Given the description of an element on the screen output the (x, y) to click on. 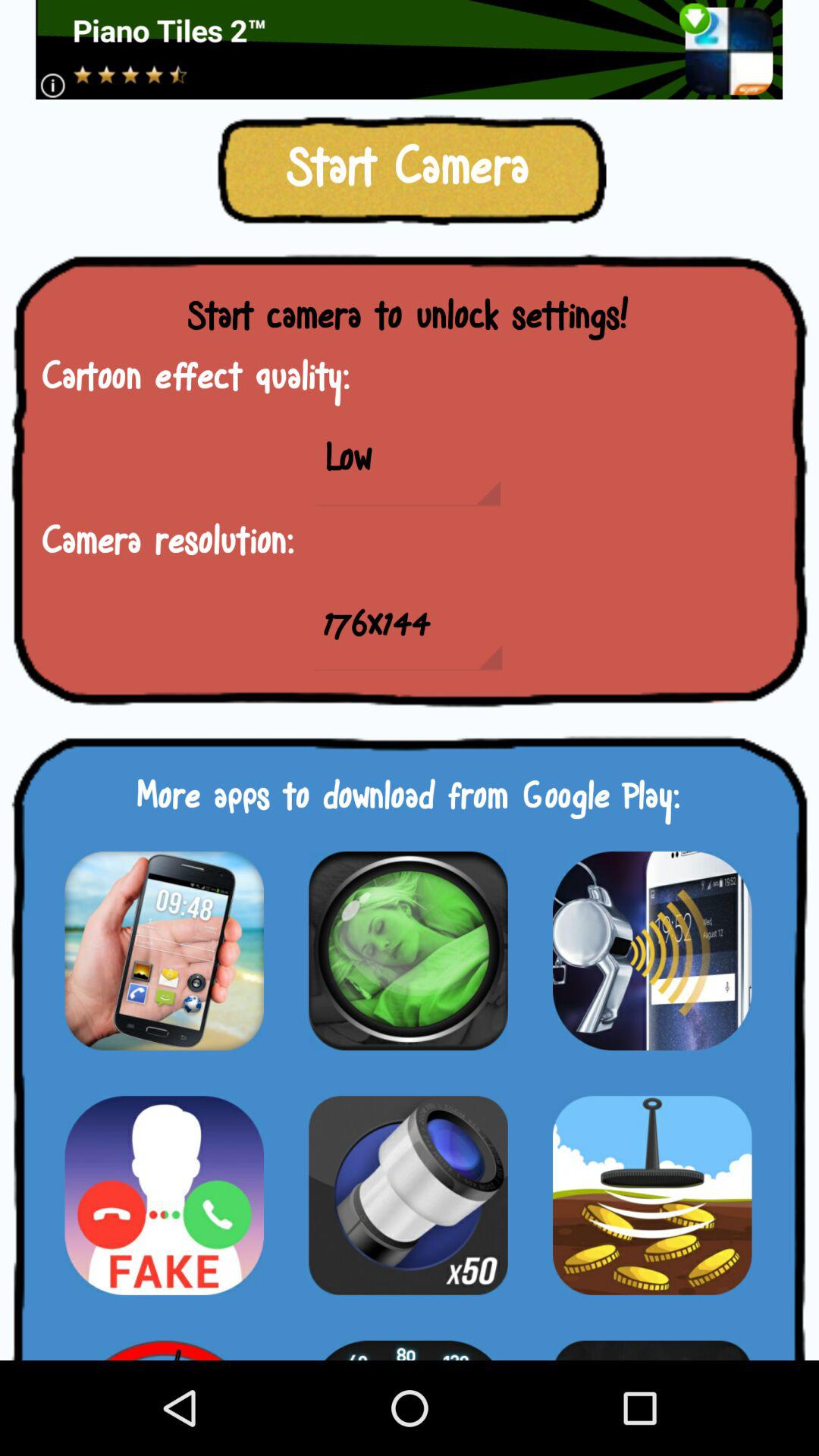
google play app (652, 950)
